Given the description of an element on the screen output the (x, y) to click on. 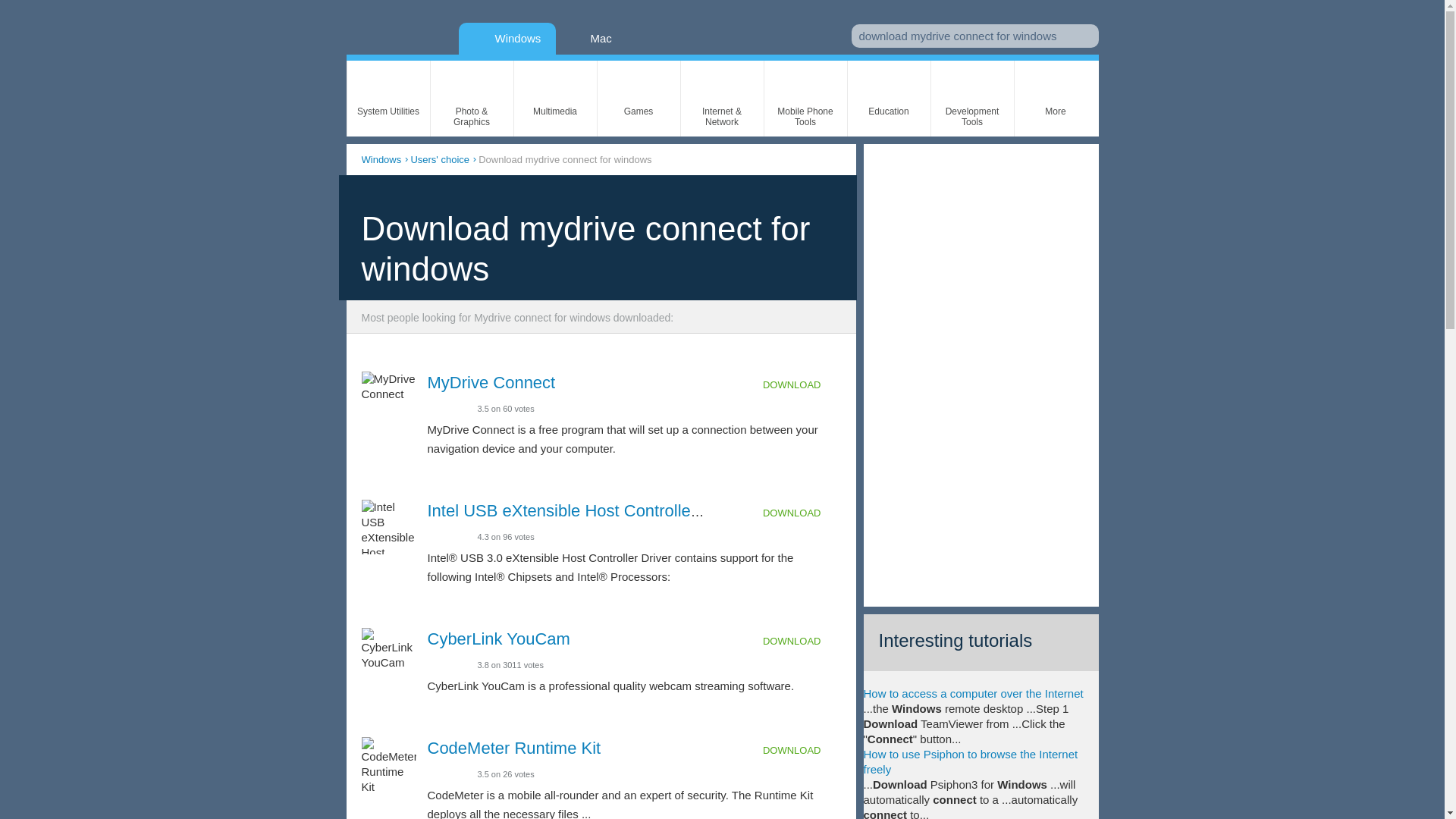
Intel USB eXtensible Host Controller Driver (586, 510)
CyberLink YouCam (499, 638)
CyberLink YouCam (499, 638)
More (1055, 98)
DOWNLOAD (801, 641)
Windows (507, 38)
Windows (381, 159)
CodeMeter Runtime Kit (514, 747)
CodeMeter Runtime Kit (514, 747)
MyDrive Connect (492, 382)
MyDrive Connect (492, 382)
DOWNLOAD (801, 385)
